Given the description of an element on the screen output the (x, y) to click on. 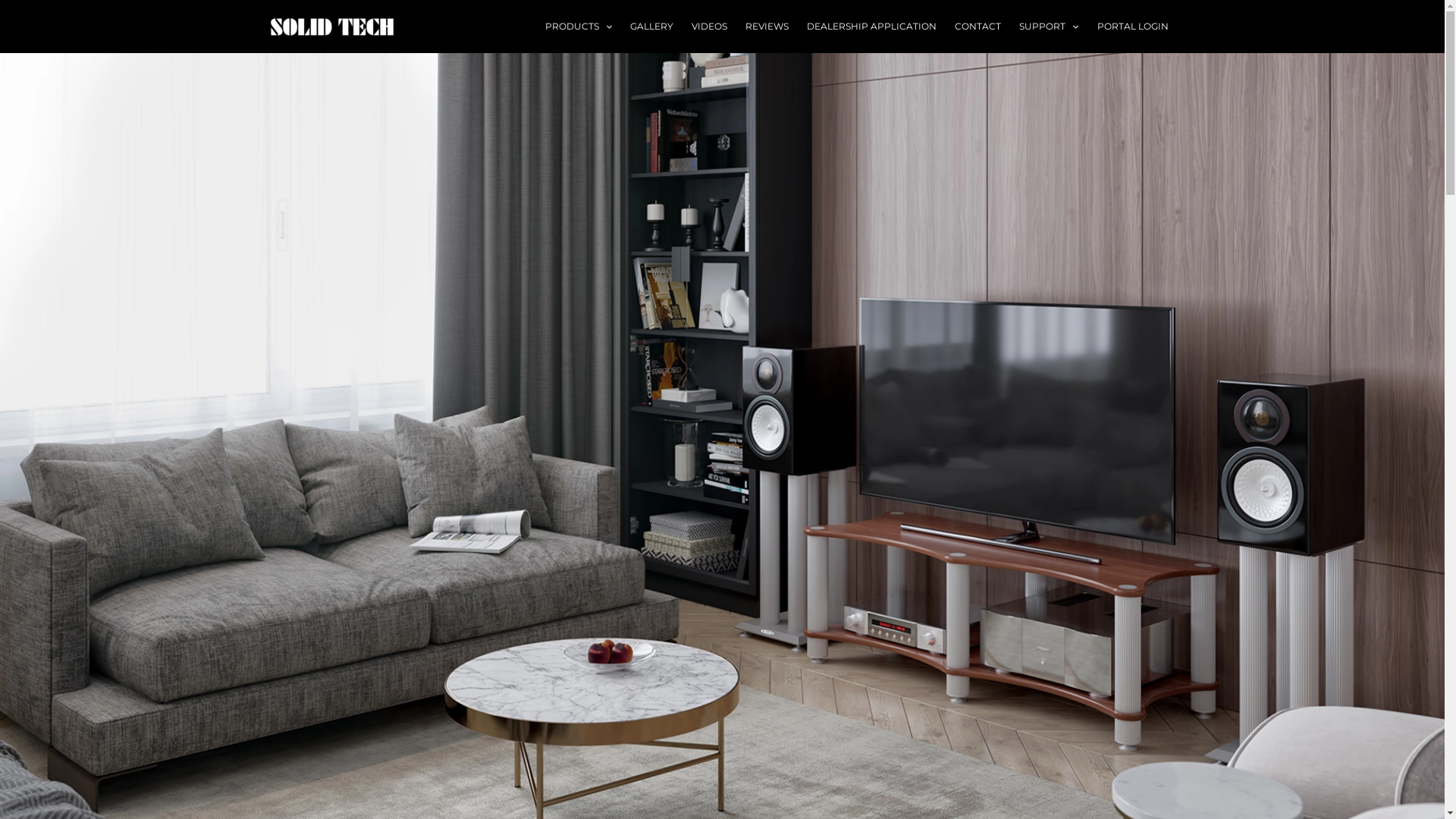
VIDEOS Element type: text (709, 26)
SUPPORT Element type: text (1048, 26)
DEALERSHIP APPLICATION Element type: text (871, 26)
GALLERY Element type: text (651, 26)
PORTAL LOGIN Element type: text (1131, 26)
REVIEWS Element type: text (766, 26)
CONTACT Element type: text (977, 26)
PRODUCTS Element type: text (578, 26)
